Given the description of an element on the screen output the (x, y) to click on. 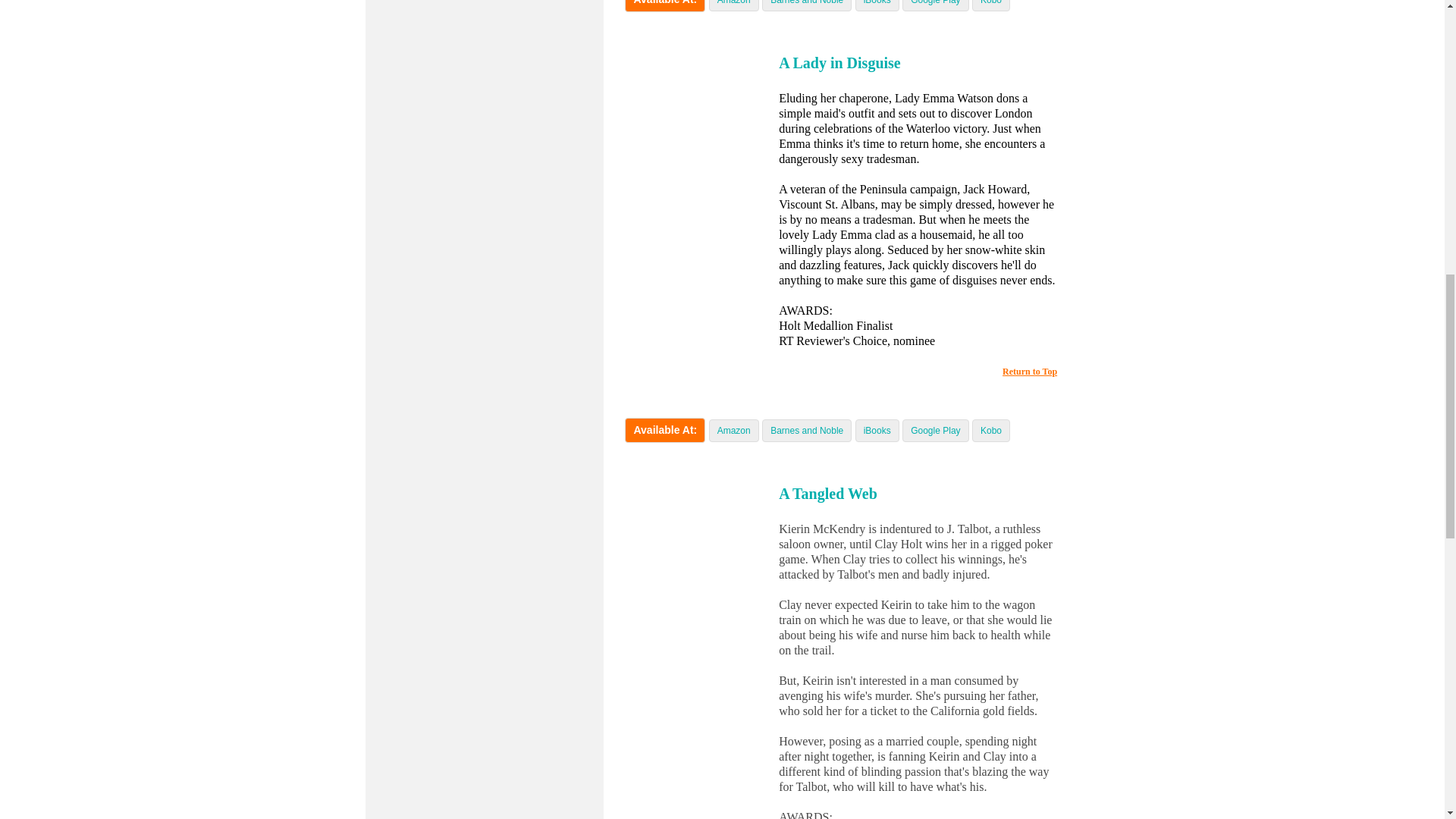
Amazon (734, 2)
iBooks (877, 2)
iBooks (877, 430)
Google Play (935, 2)
Barnes and Noble (806, 2)
Amazon (734, 430)
Return to Top (1030, 371)
Kobo (990, 2)
Kobo (990, 430)
Google Play (935, 430)
